Given the description of an element on the screen output the (x, y) to click on. 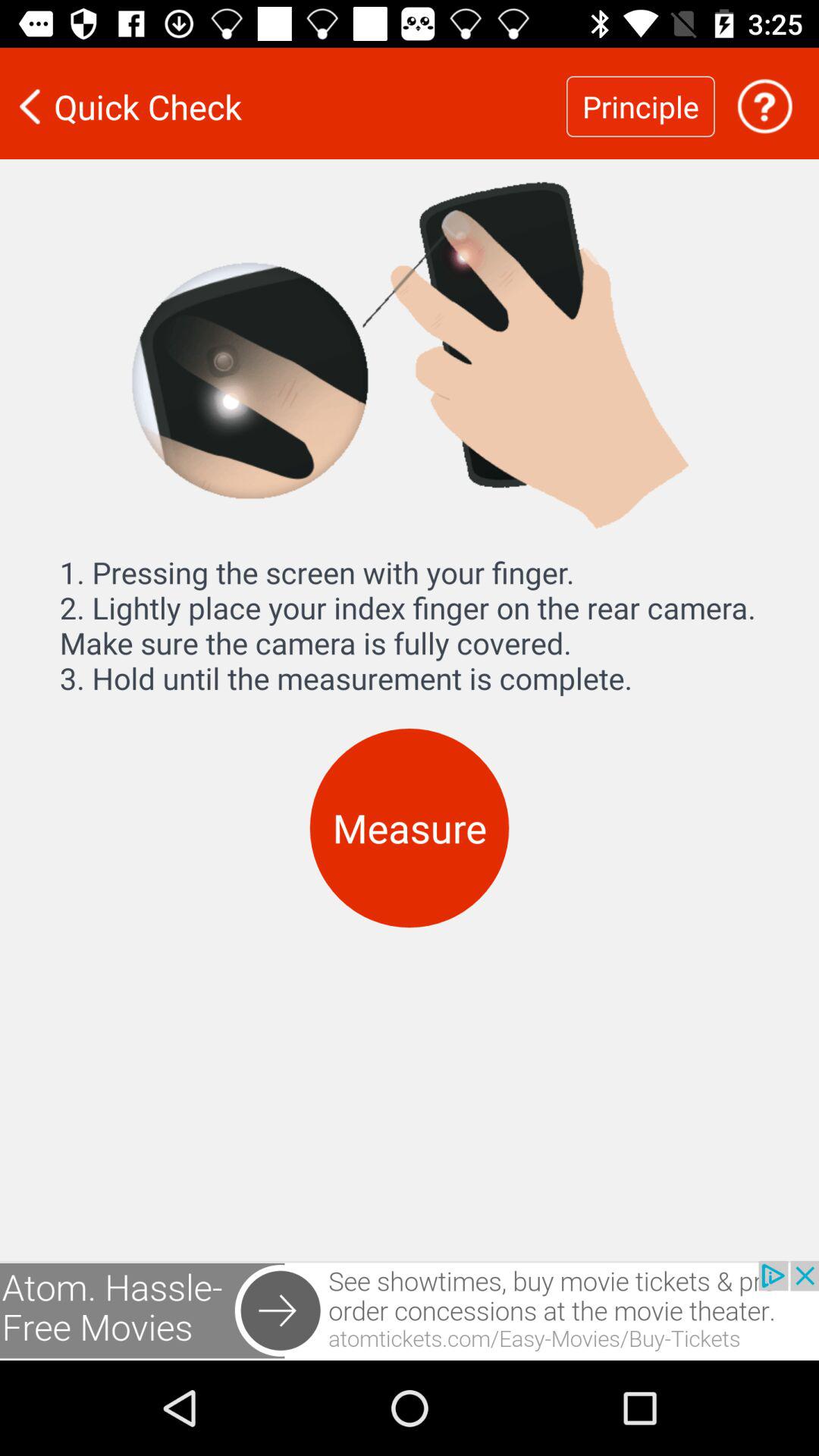
access help (764, 106)
